Given the description of an element on the screen output the (x, y) to click on. 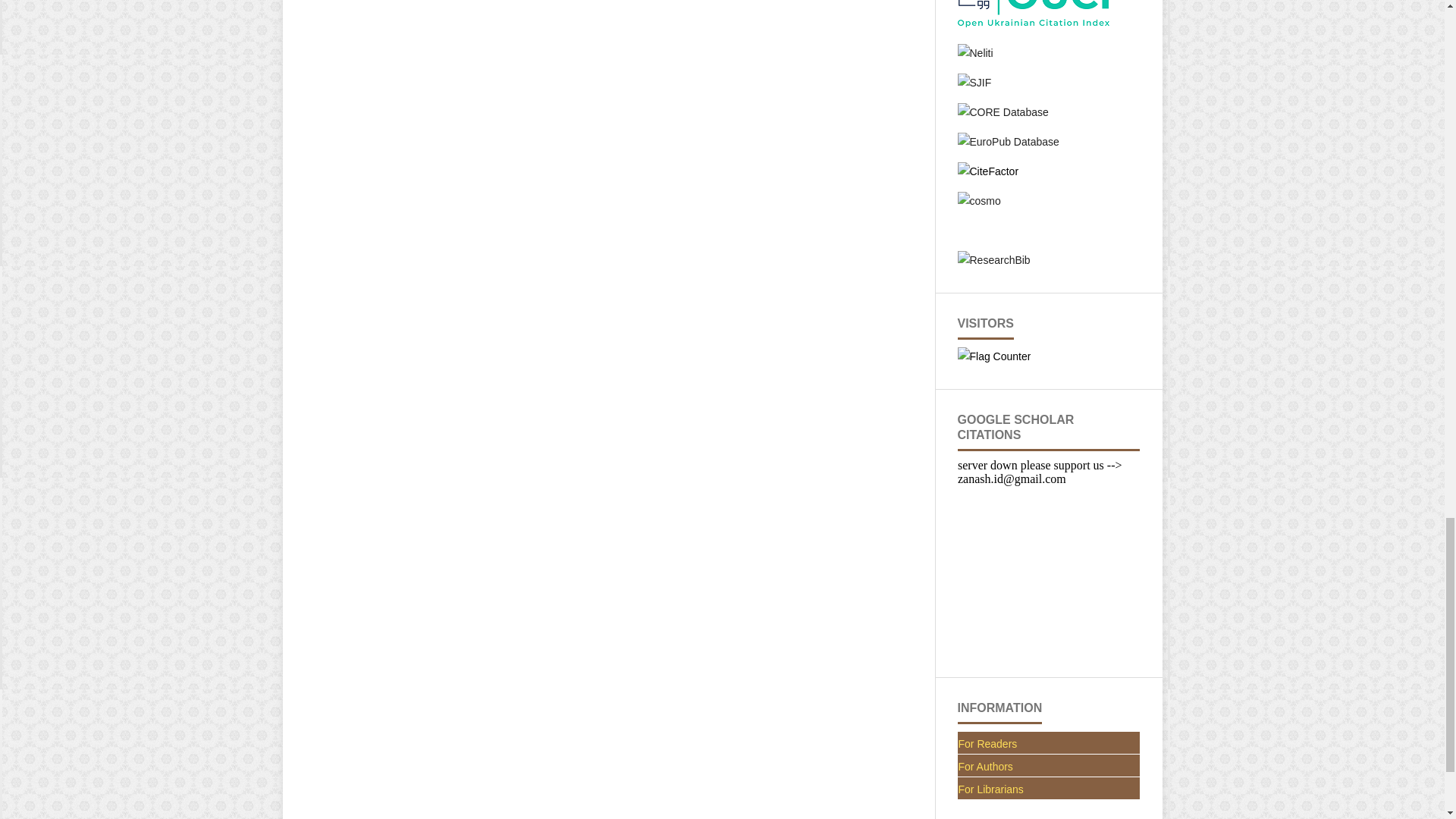
For Authors (1048, 766)
For Readers (1048, 743)
For Readers (1048, 743)
For Authors (1048, 766)
For Librarians (1048, 789)
CiteFactor (986, 171)
For Librarians (1048, 789)
